Given the description of an element on the screen output the (x, y) to click on. 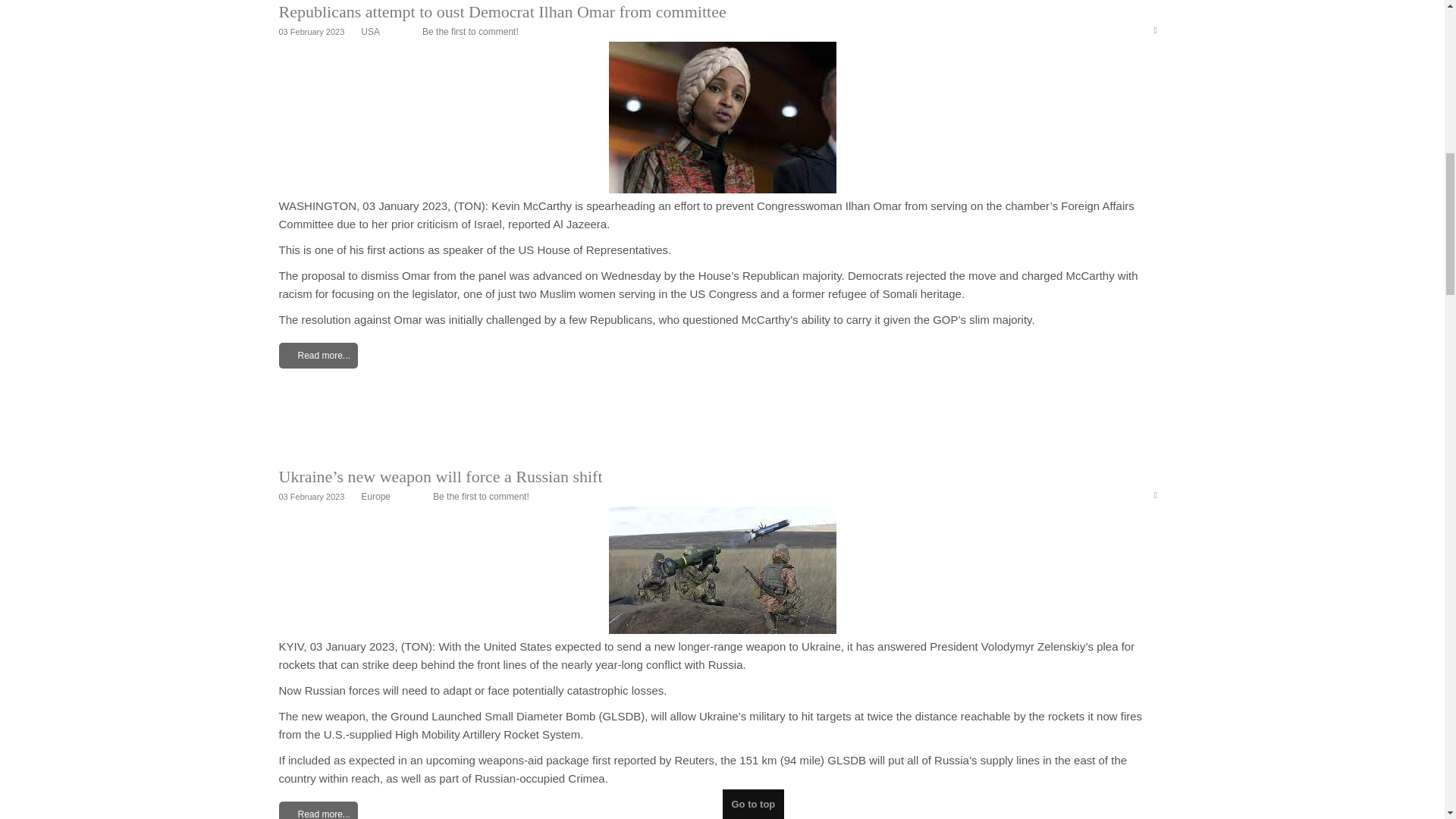
Subscribe to this RSS feed (1160, 496)
Subscribe to this RSS feed (1160, 31)
